Given the description of an element on the screen output the (x, y) to click on. 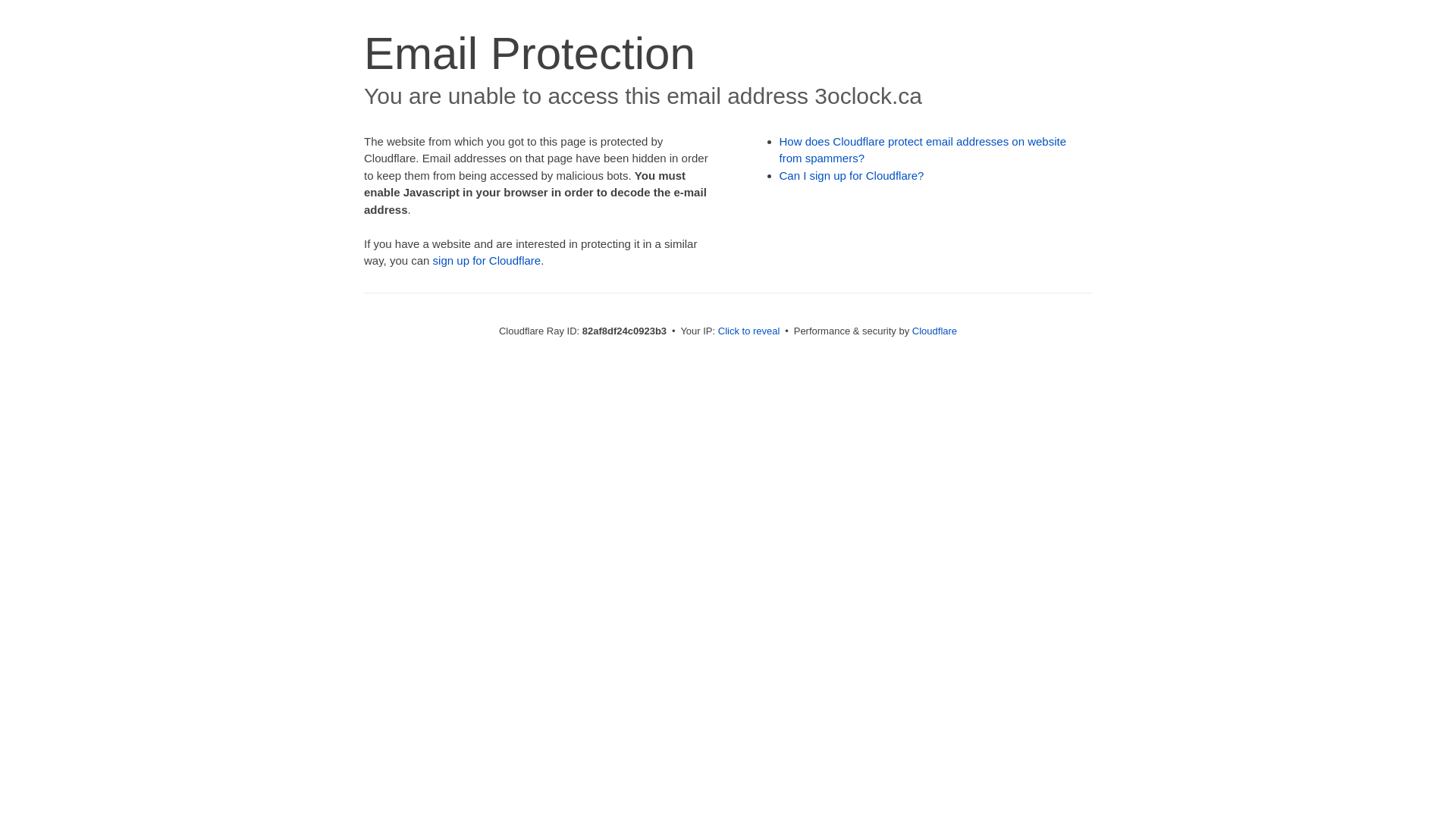
Cloudflare Element type: text (934, 330)
sign up for Cloudflare Element type: text (487, 260)
Click to reveal Element type: text (749, 330)
Can I sign up for Cloudflare? Element type: text (851, 175)
